Given the description of an element on the screen output the (x, y) to click on. 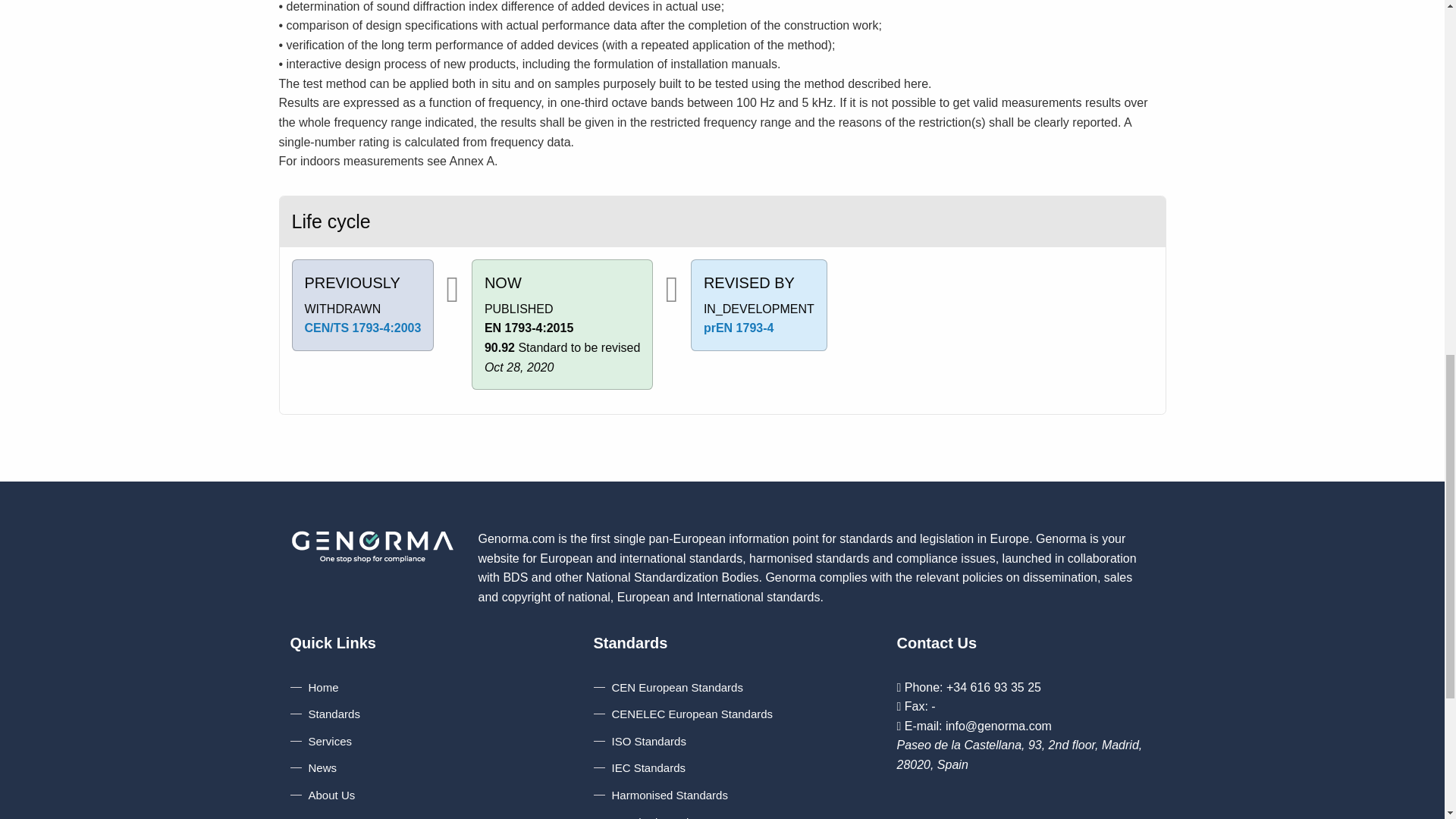
prEN 1793-4 (738, 327)
Home (314, 686)
Services (320, 740)
Standards (324, 713)
